Given the description of an element on the screen output the (x, y) to click on. 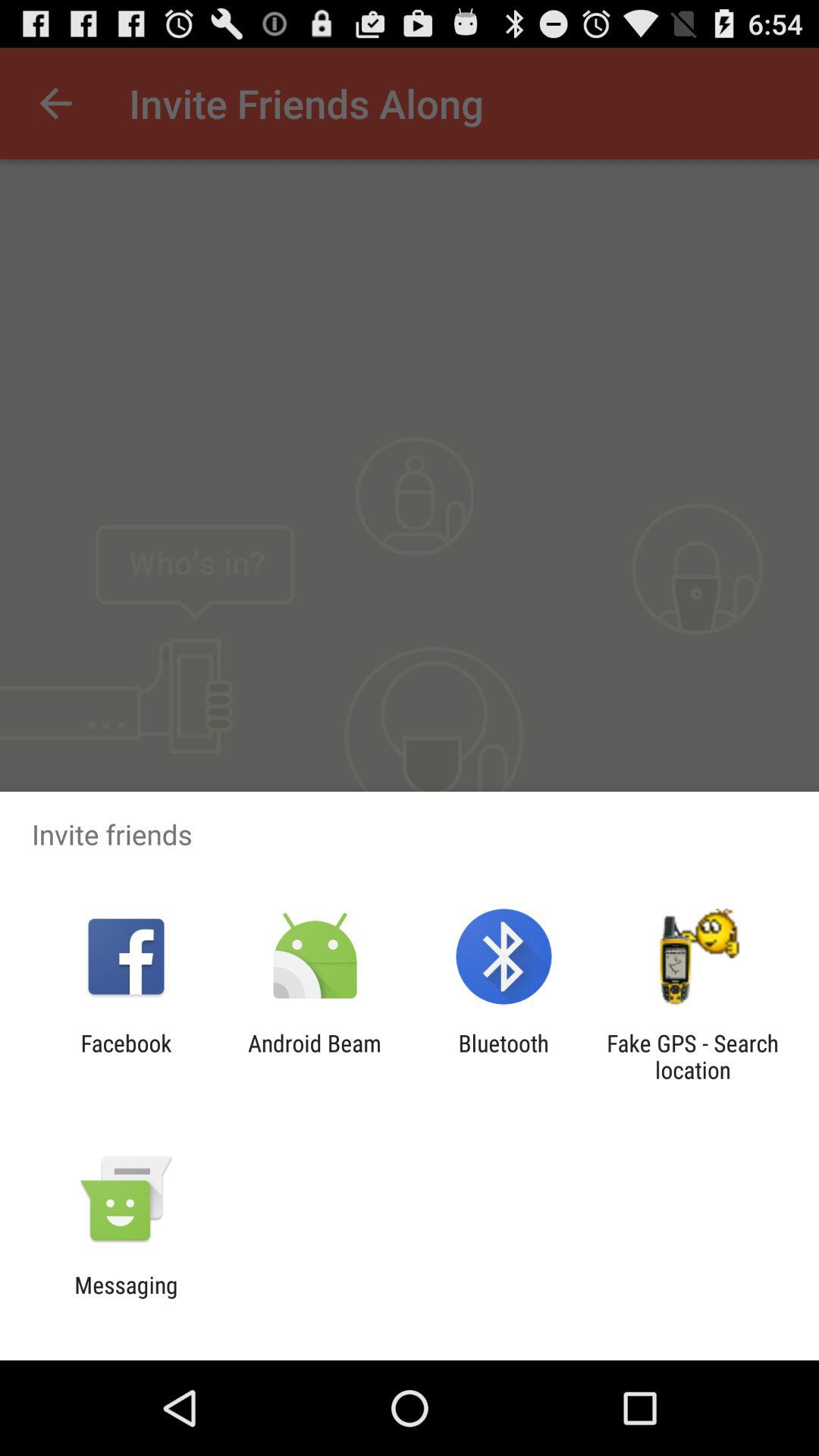
turn off item next to the android beam app (503, 1056)
